Given the description of an element on the screen output the (x, y) to click on. 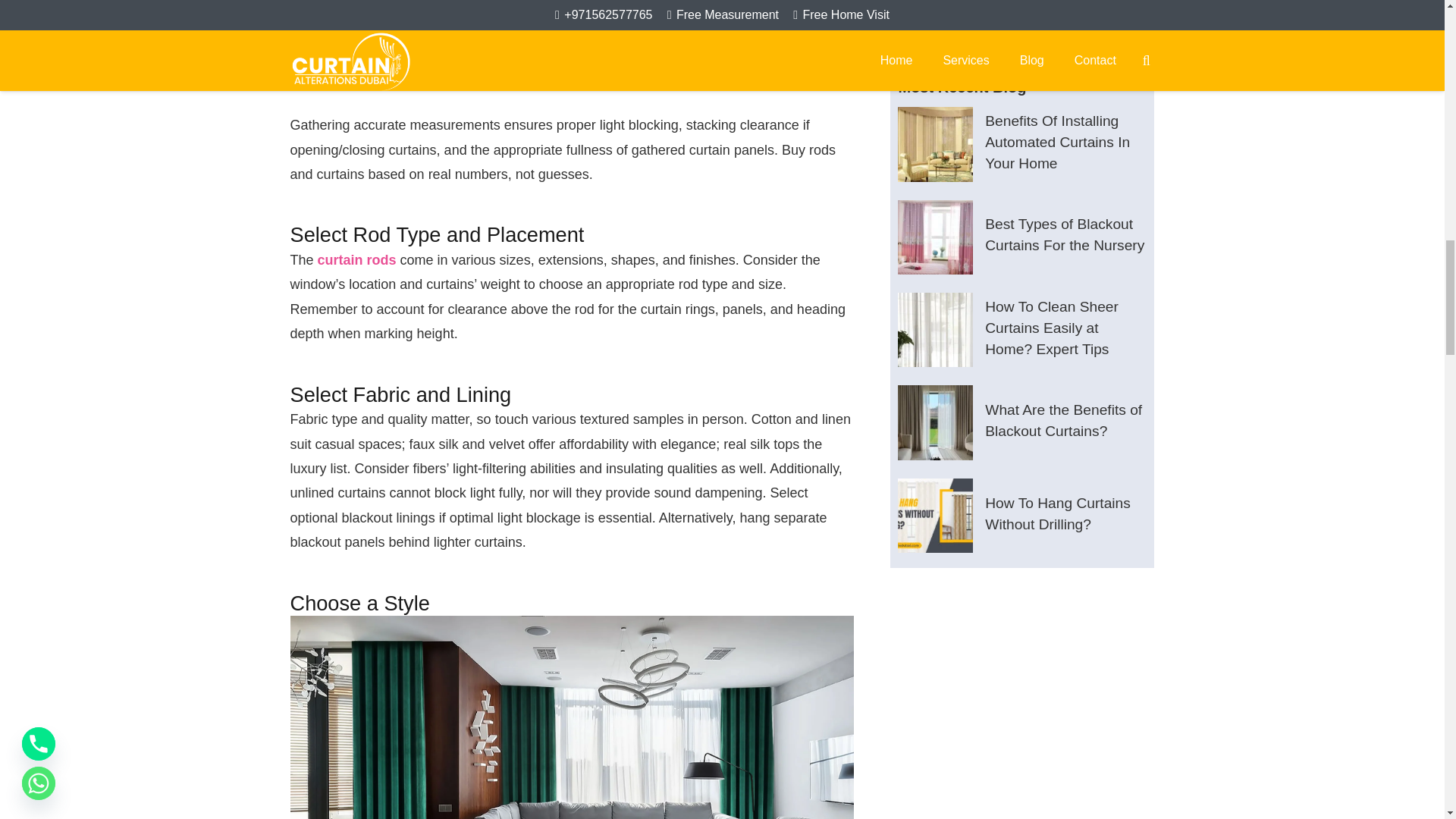
curtain rods (356, 259)
